Given the description of an element on the screen output the (x, y) to click on. 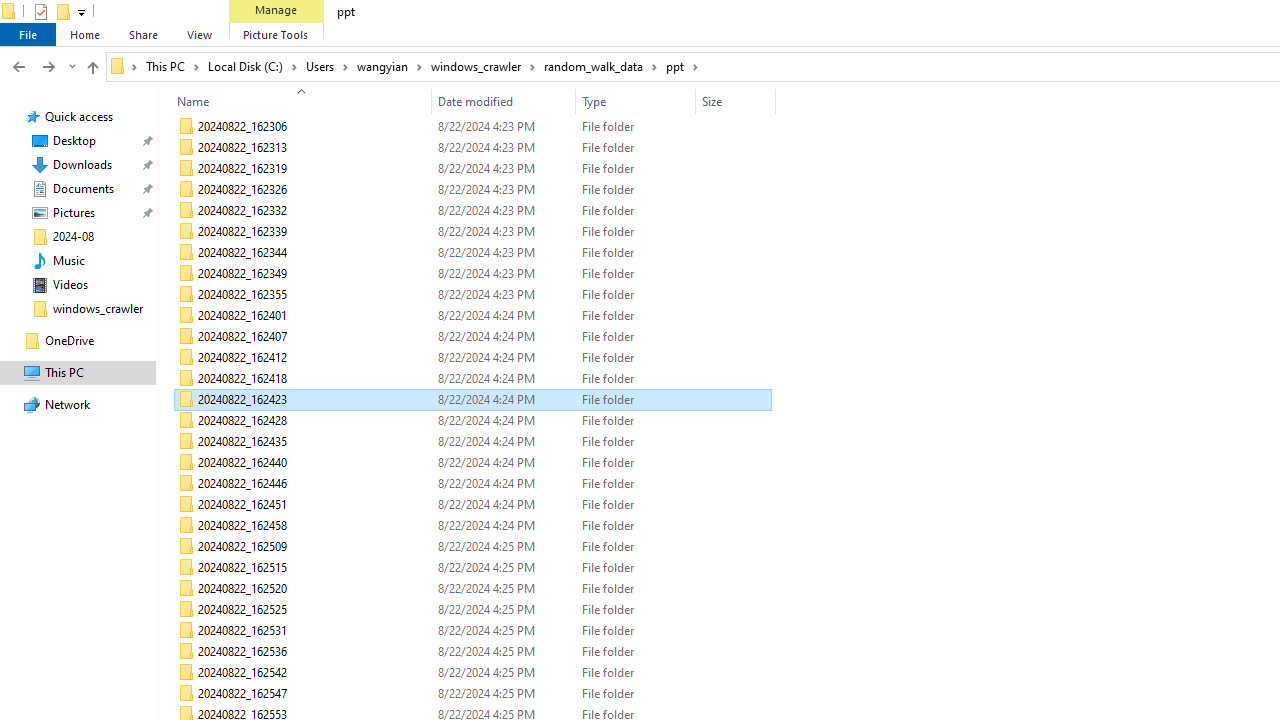
20240822_162440 (472, 462)
Name (313, 693)
20240822_162344 (472, 252)
20240822_162446 (472, 484)
All locations (124, 65)
20240822_162531 (472, 630)
20240822_162435 (472, 441)
20240822_162401 (472, 315)
20240822_162355 (472, 294)
